Given the description of an element on the screen output the (x, y) to click on. 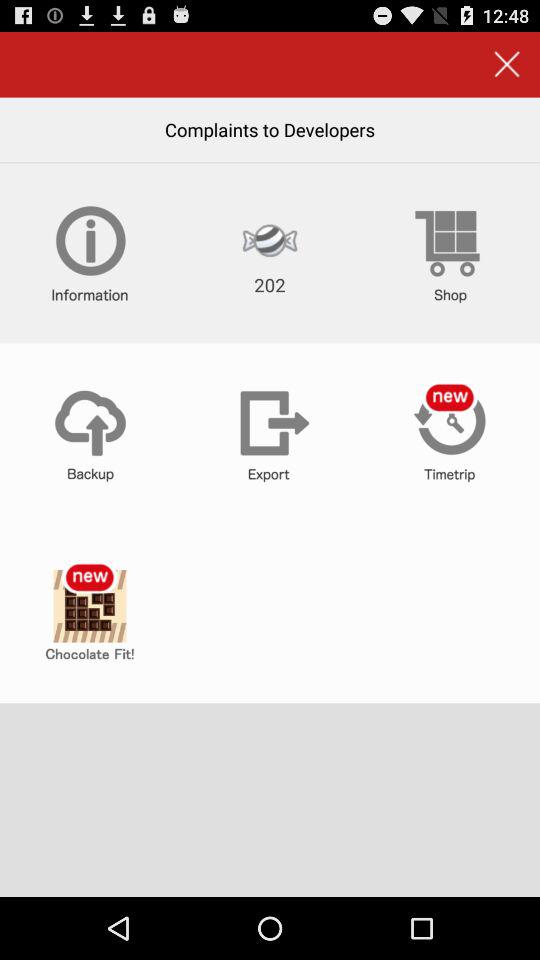
open information (90, 253)
